Given the description of an element on the screen output the (x, y) to click on. 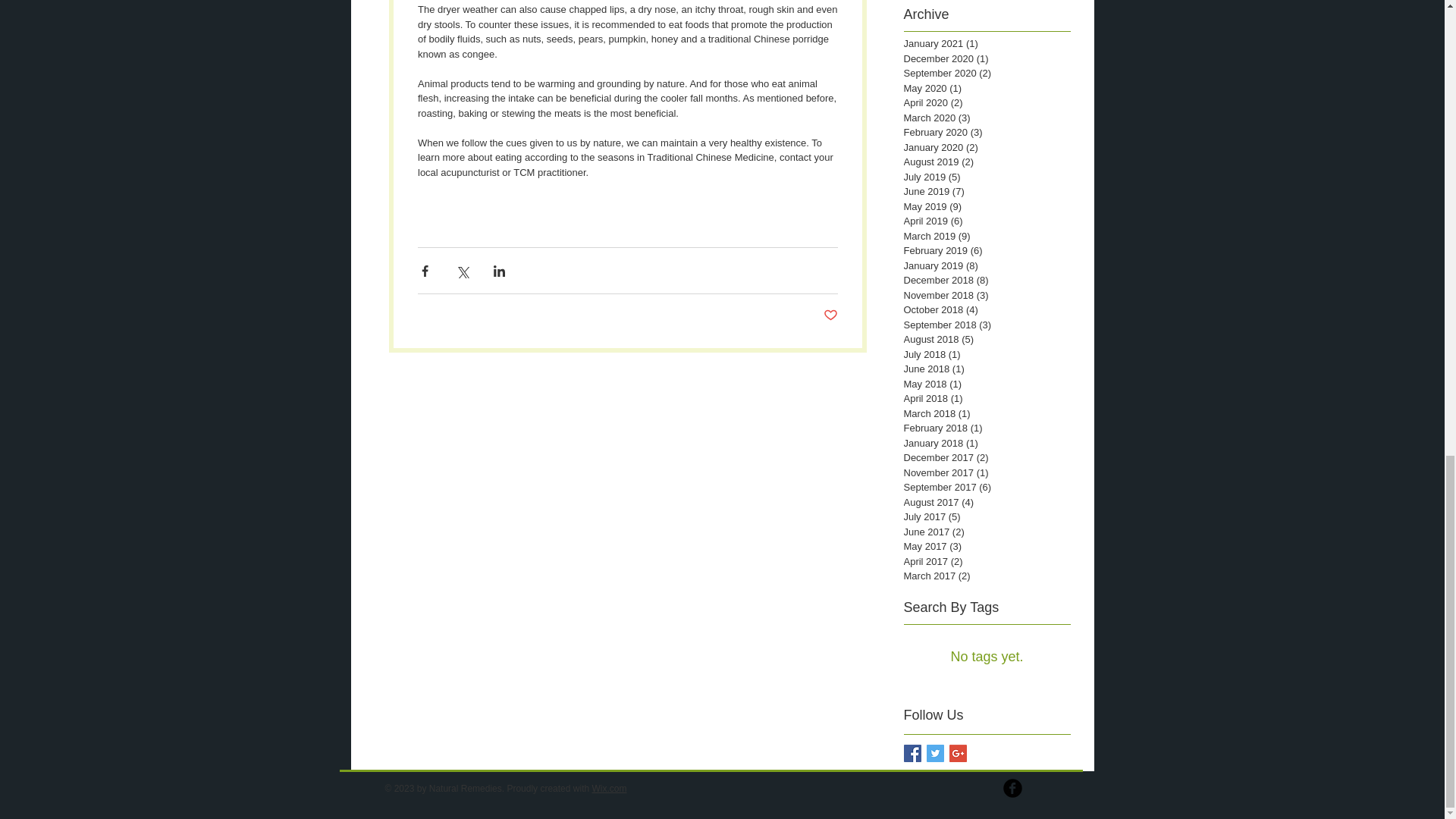
Post not marked as liked (831, 315)
